Given the description of an element on the screen output the (x, y) to click on. 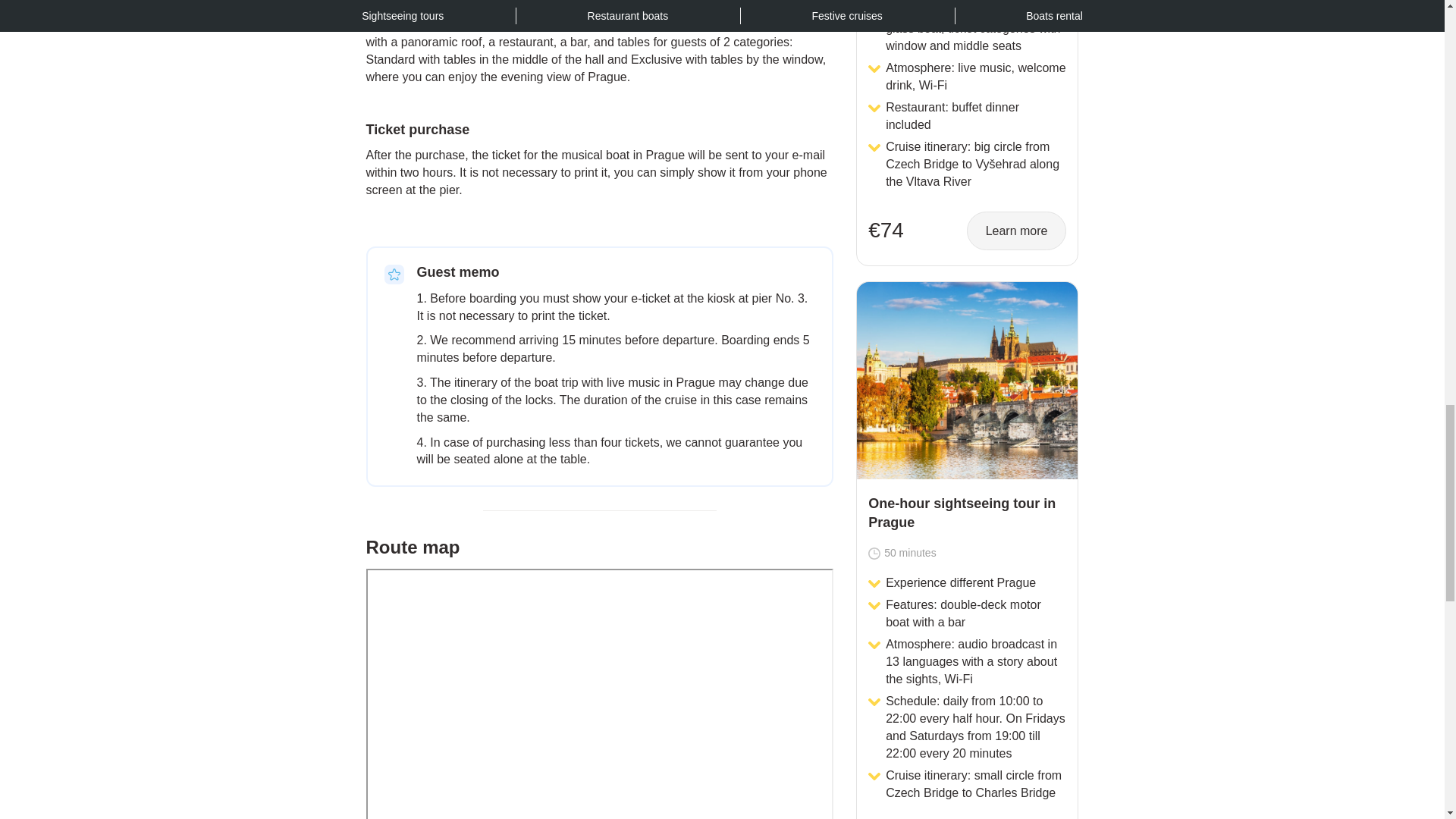
One-hour sightseeing tour in Prague (967, 380)
One-hour sightseeing tour in Prague (966, 513)
